Given the description of an element on the screen output the (x, y) to click on. 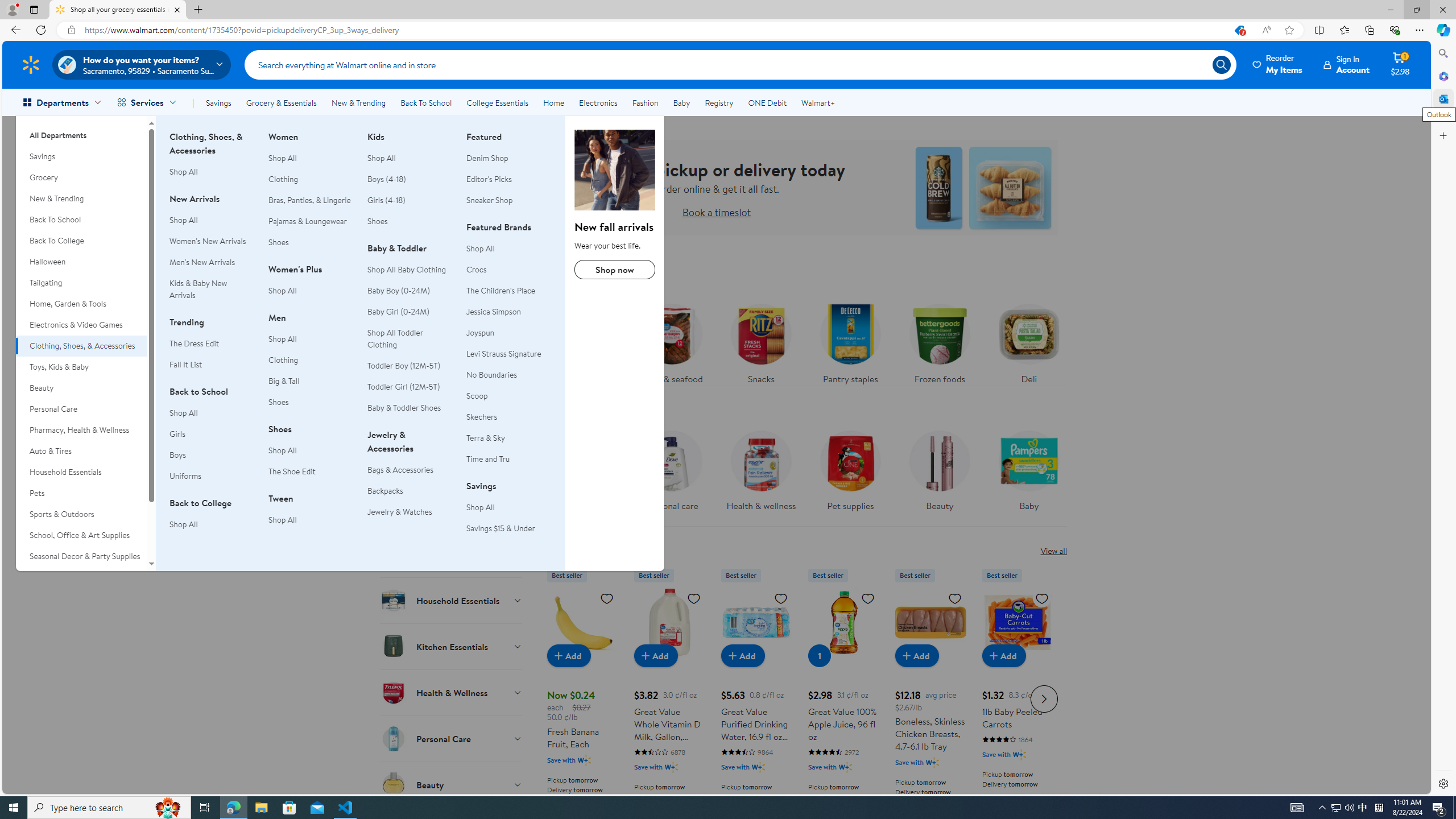
Personal care (671, 473)
ONE Debit (767, 102)
Bras, Panties, & Lingerie (308, 199)
1 in cart, Great Value 100% Apple Juice, 96 fl oz (819, 655)
Health & wellness (761, 473)
Uniforms (211, 476)
Toddler Boy (12M-5T) (409, 365)
Frozen foods (938, 340)
Jewelry & Watches (409, 512)
Sports & Outdoors (81, 513)
The Shoe Edit (291, 471)
Pharmacy, Health & Wellness (81, 429)
1lb Baby Peeled Carrots (1017, 621)
